Given the description of an element on the screen output the (x, y) to click on. 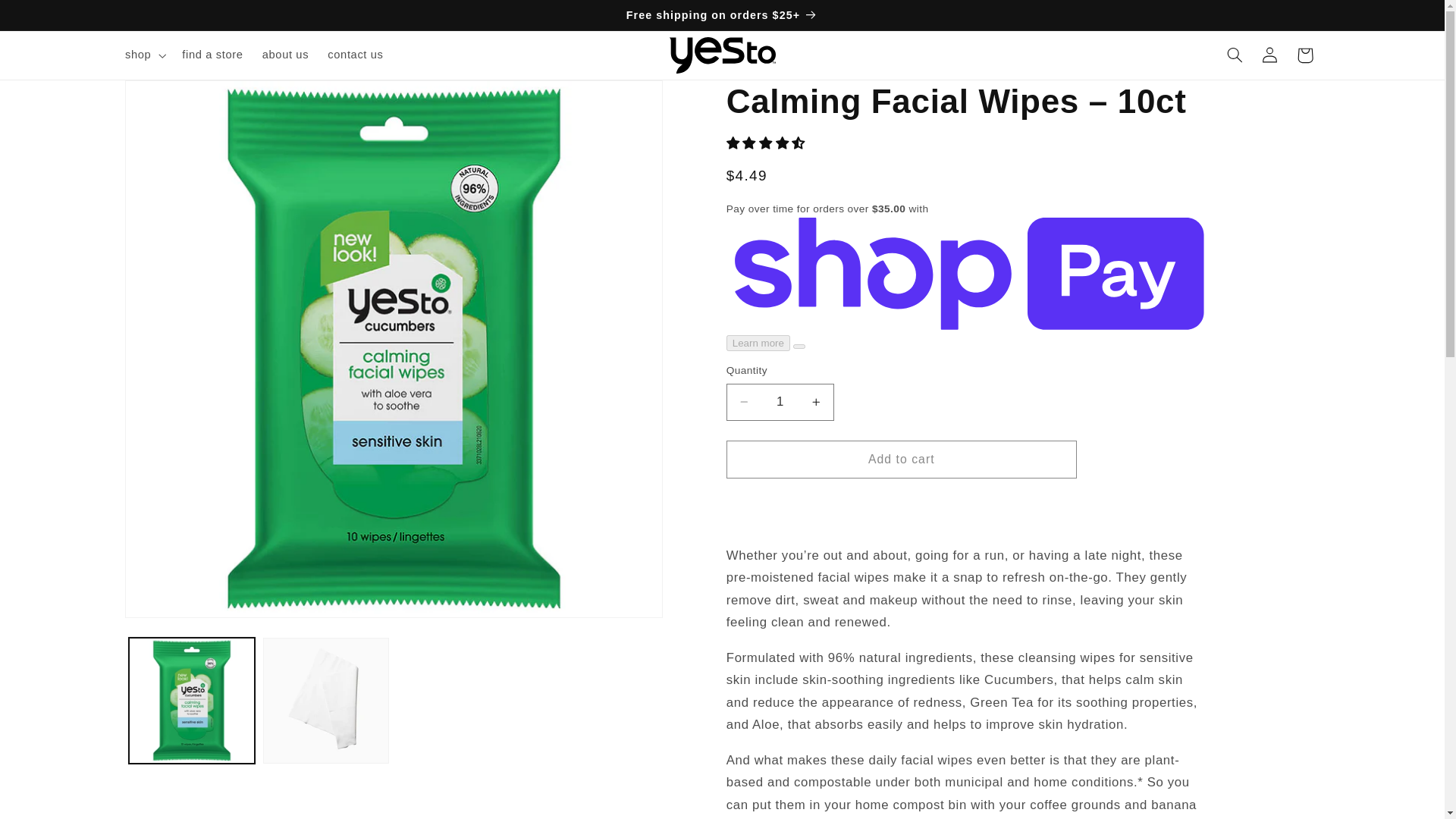
Skip to content (48, 18)
1 (780, 402)
